Given the description of an element on the screen output the (x, y) to click on. 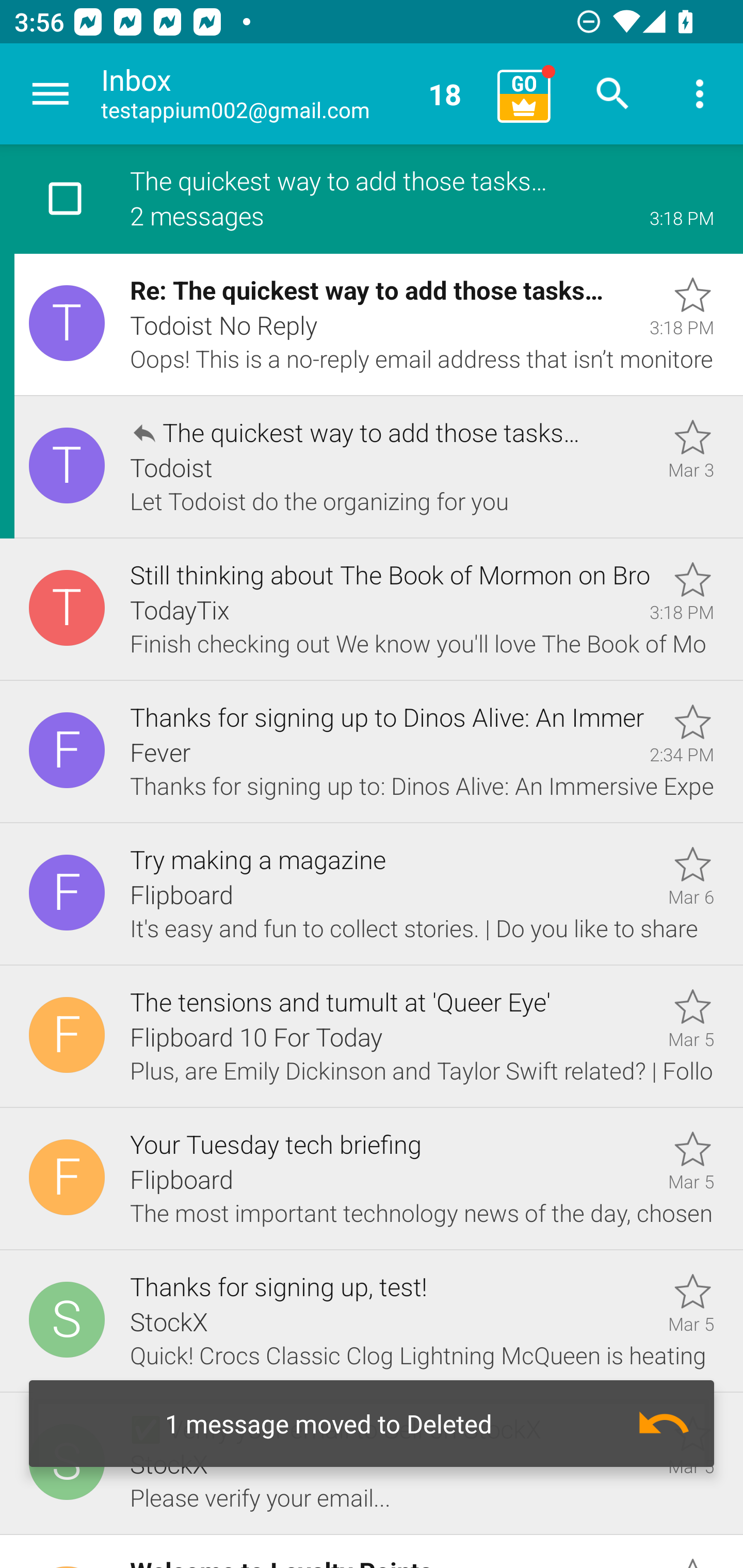
Navigate up (50, 93)
Inbox testappium002@gmail.com 18 (291, 93)
Search (612, 93)
More options (699, 93)
Undo 1 message moved to Deleted (371, 1423)
